Given the description of an element on the screen output the (x, y) to click on. 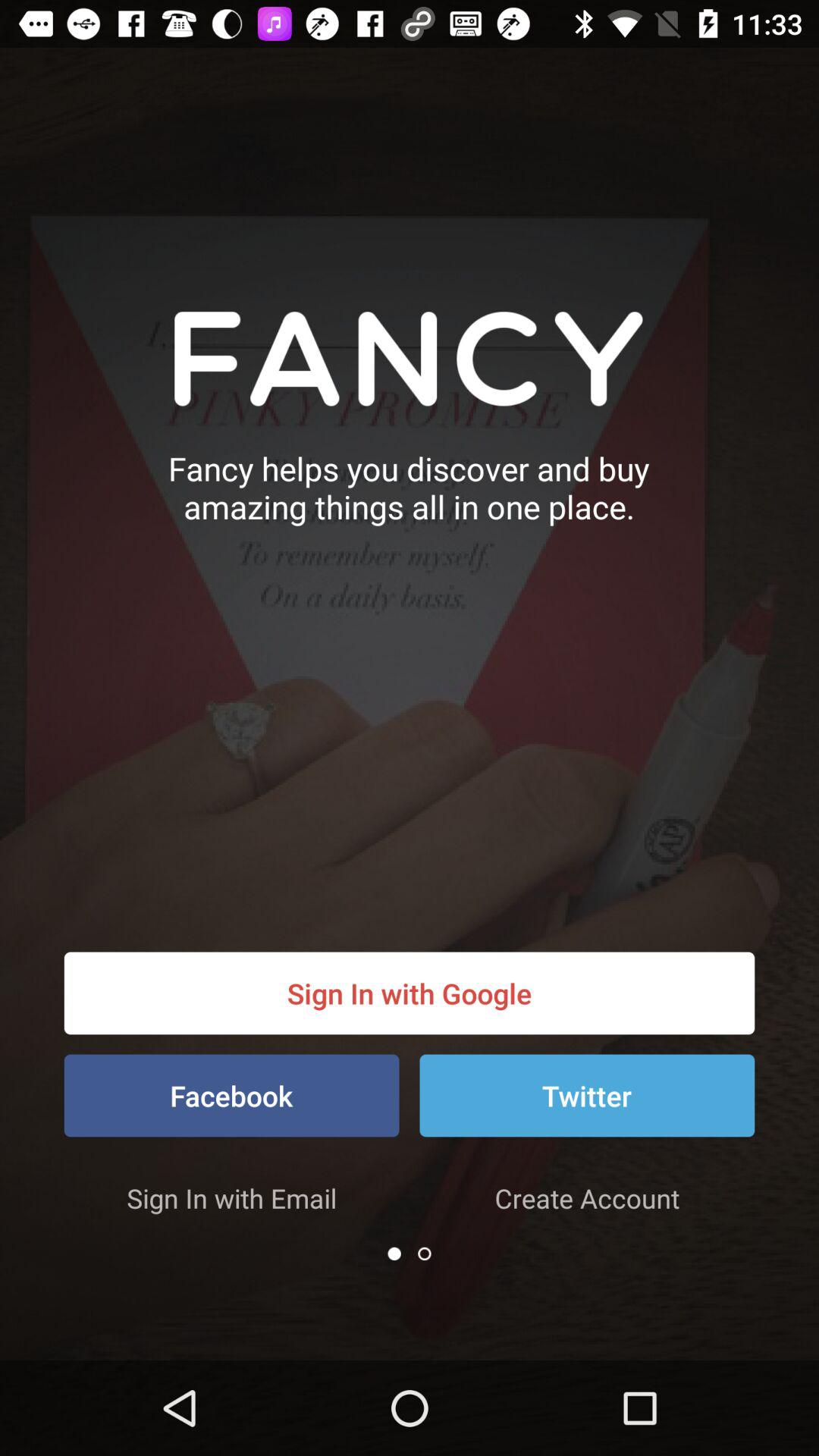
click item below twitter item (586, 1197)
